Given the description of an element on the screen output the (x, y) to click on. 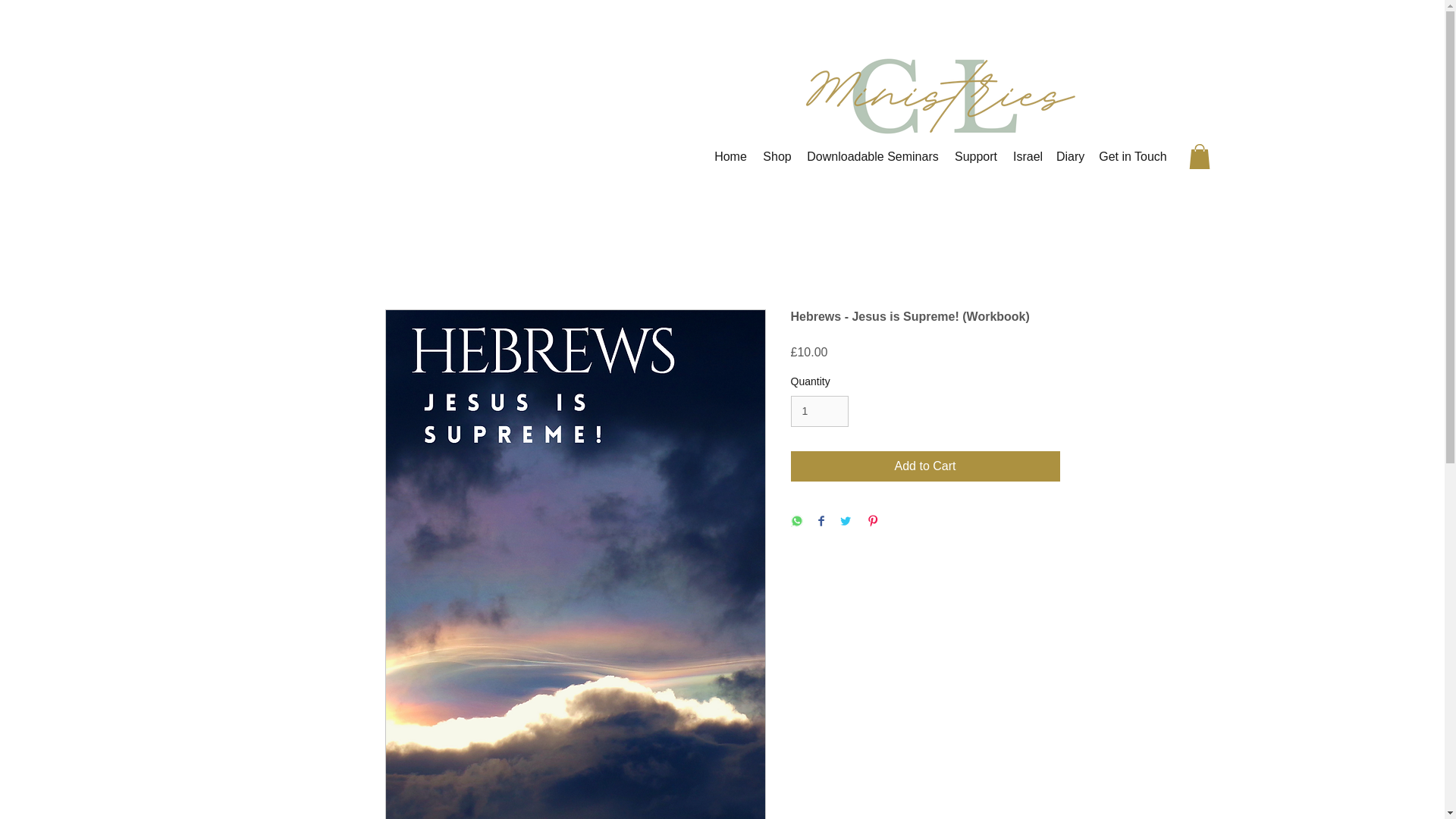
Diary (1069, 156)
Shop (777, 156)
Downloadable Seminars (872, 156)
Israel (1027, 156)
Add to Cart (924, 466)
Home (730, 156)
Support (976, 156)
1 (818, 410)
Get in Touch (1132, 156)
